Given the description of an element on the screen output the (x, y) to click on. 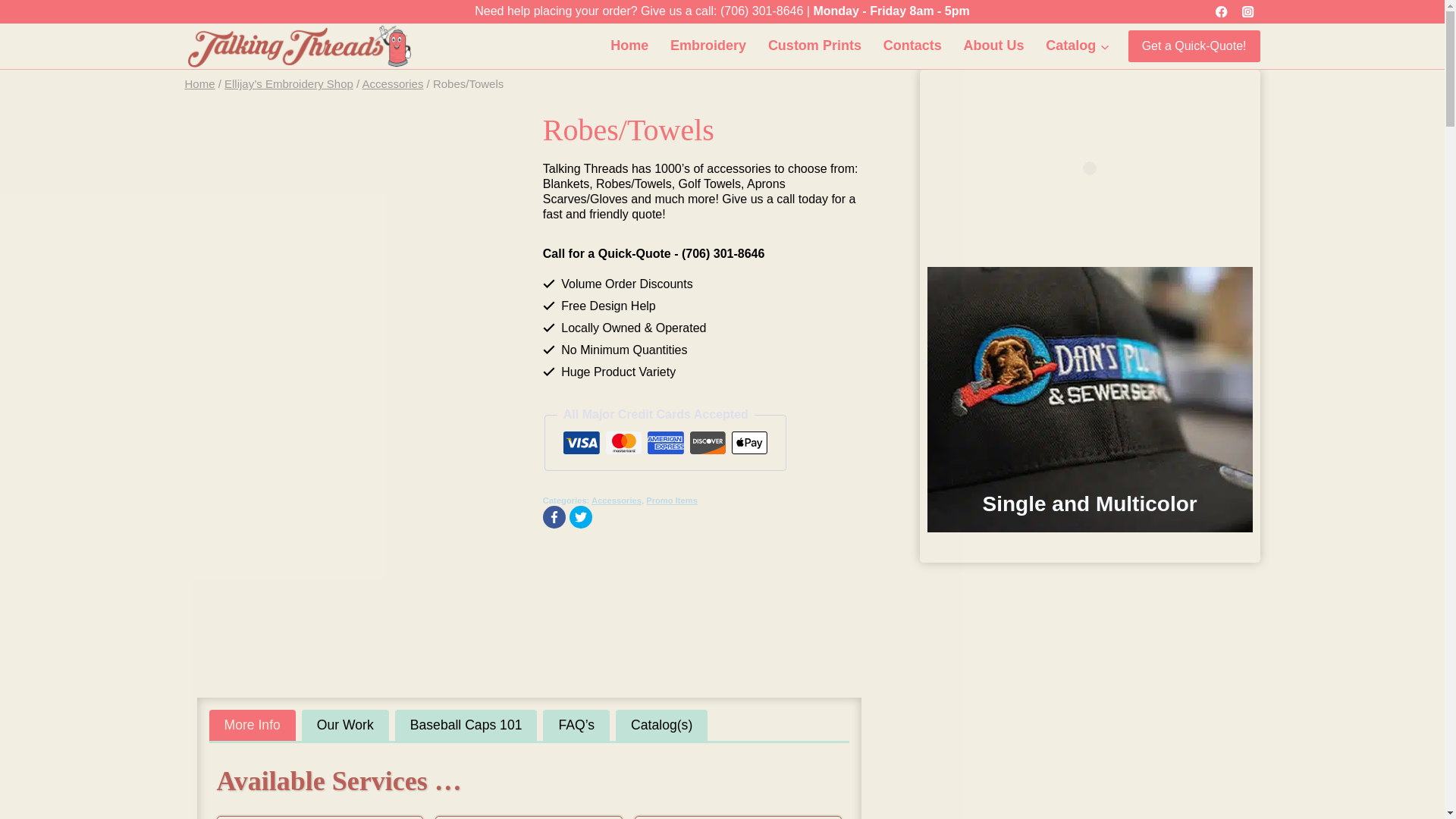
Catalog (1078, 45)
Contacts (912, 45)
Accessories (392, 83)
Embroidery (708, 45)
Custom Prints (814, 45)
Our Work (344, 725)
About Us (993, 45)
Home (199, 83)
Promo Items (671, 500)
Get a Quick-Quote! (1194, 46)
